Given the description of an element on the screen output the (x, y) to click on. 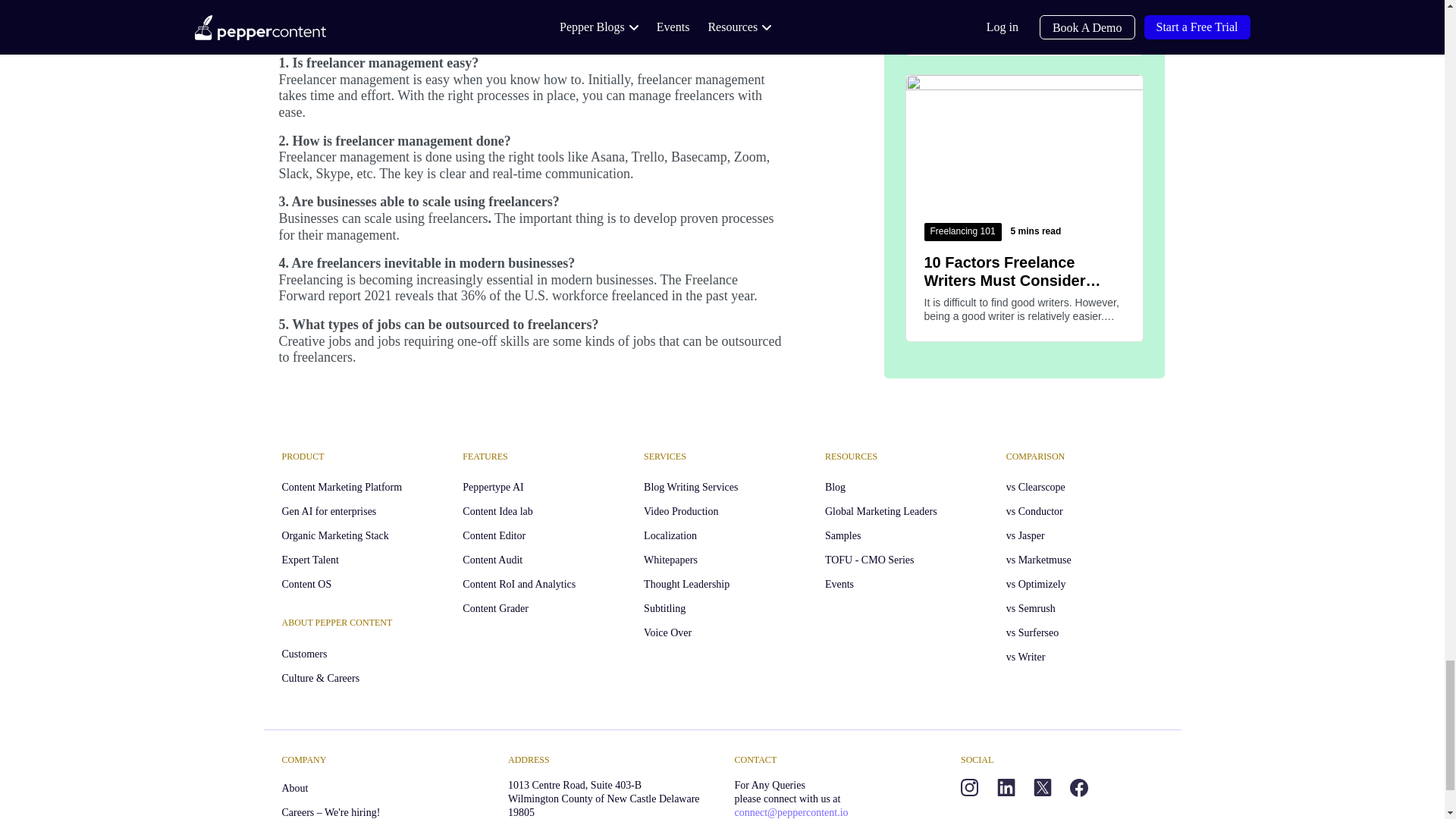
twitter (1042, 787)
linkedin (1005, 787)
facebook (1078, 787)
instagram (969, 787)
